Given the description of an element on the screen output the (x, y) to click on. 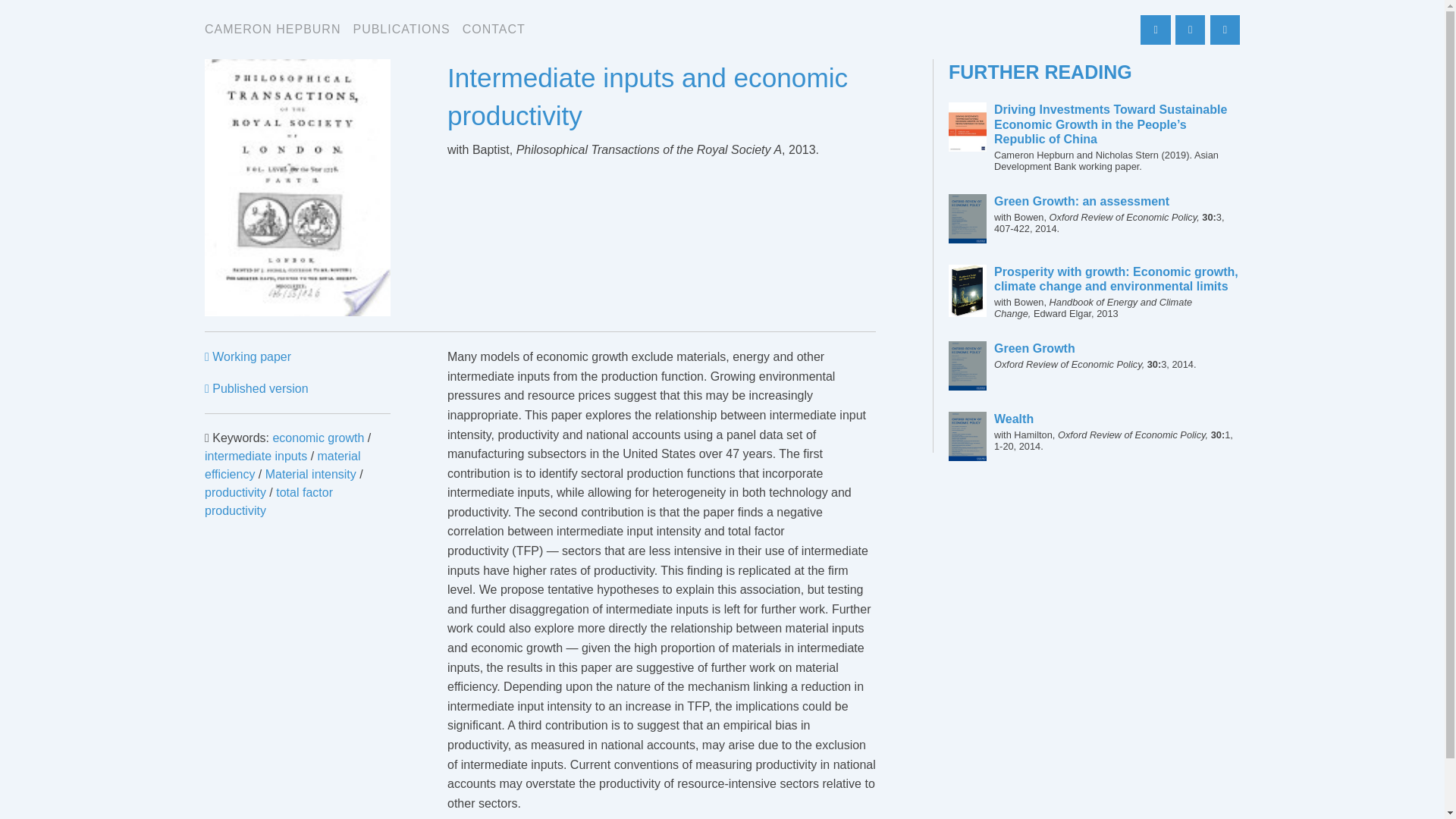
LinkedIn (1224, 30)
CONTACT (494, 29)
productivity (1117, 356)
total factor productivity (235, 492)
material efficiency (269, 501)
Material intensity (282, 464)
economic growth (310, 473)
CAMERON HEPBURN (318, 437)
intermediate inputs (272, 29)
Google Scholar (256, 455)
PUBLICATIONS (1155, 30)
Twitter (400, 29)
